Given the description of an element on the screen output the (x, y) to click on. 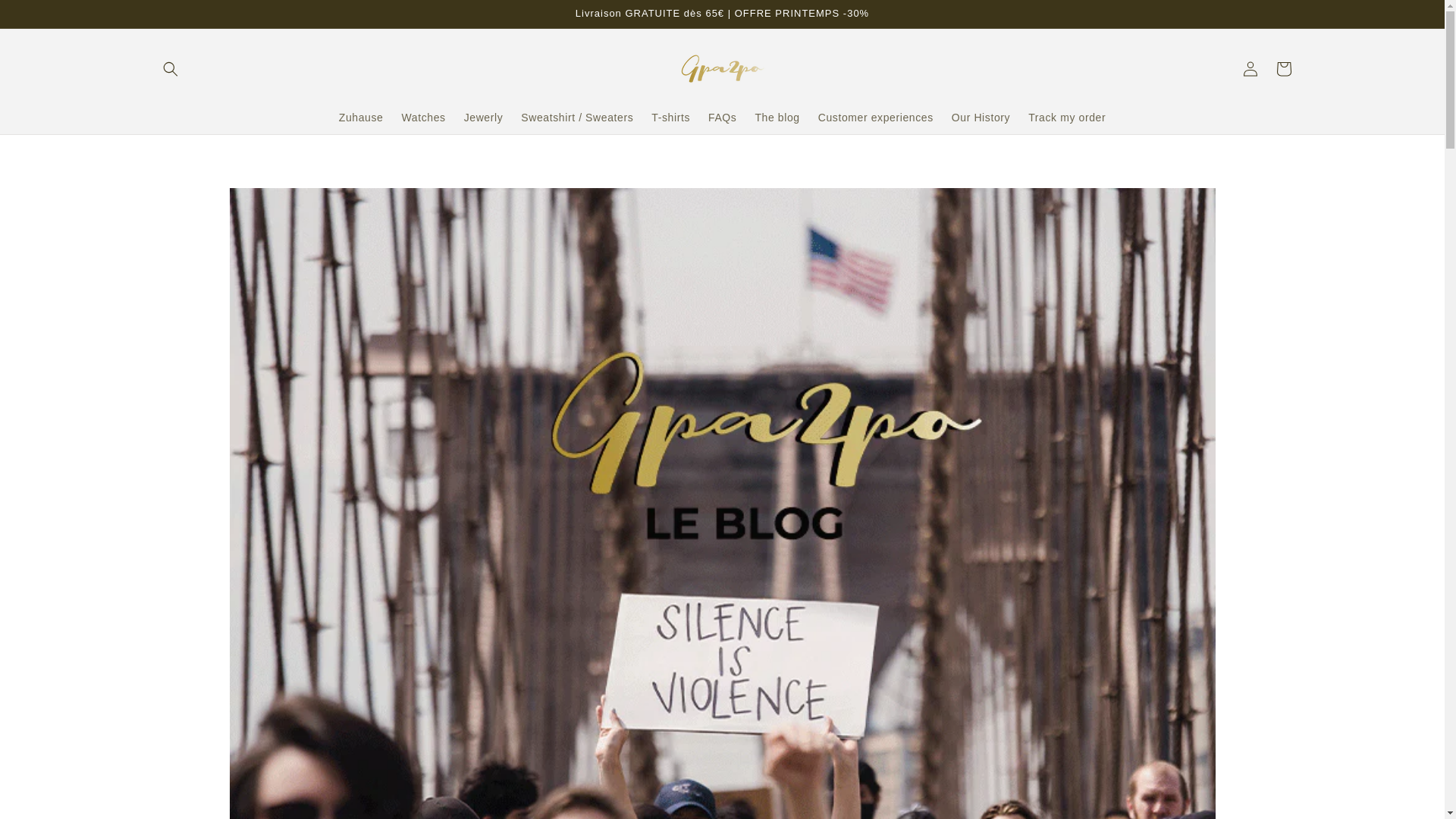
Warenkorb (1283, 68)
Watches (422, 117)
Einloggen (1249, 68)
FAQs (721, 117)
The blog (776, 117)
Our History (980, 117)
Jewerly (483, 117)
T-shirts (670, 117)
Direkt zum Inhalt (45, 16)
Track my order (1067, 117)
Customer experiences (875, 117)
Zuhause (361, 117)
